Given the description of an element on the screen output the (x, y) to click on. 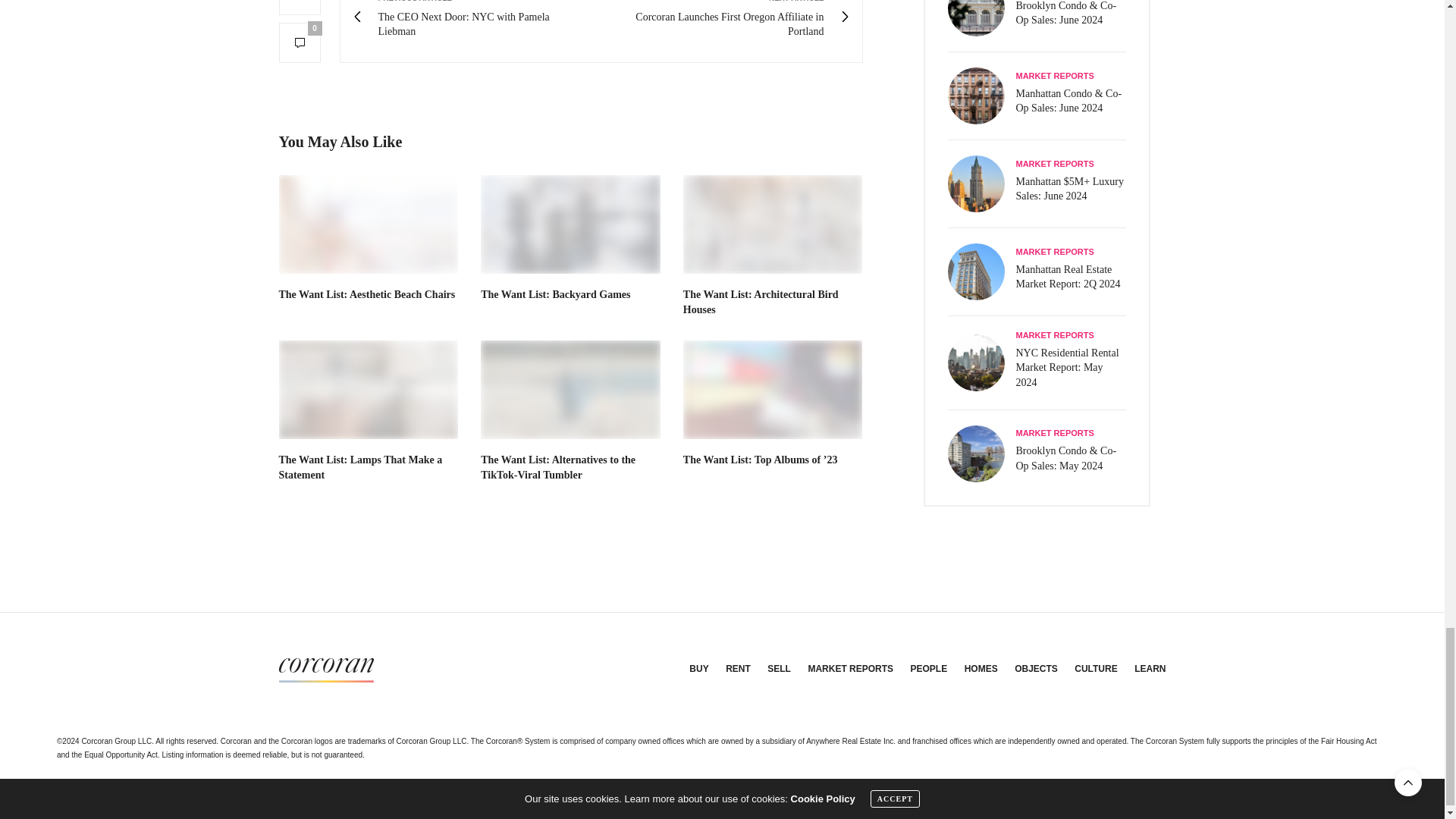
The Want List: Architectural Bird Houses (760, 302)
The Want List: Architectural Bird Houses (772, 224)
The Want List: Aesthetic Beach Chairs (368, 224)
The Want List: Backyard Games (475, 19)
The Want List: Backyard Games (555, 294)
The Want List: Alternatives to the TikTok-Viral Tumbler (570, 224)
The Want List: Lamps That Make a Statement (557, 467)
The Want List: Alternatives to the TikTok-Viral Tumbler (368, 389)
The Want List: Lamps That Make a Statement (570, 389)
The Want List: Aesthetic Beach Chairs (360, 467)
